Given the description of an element on the screen output the (x, y) to click on. 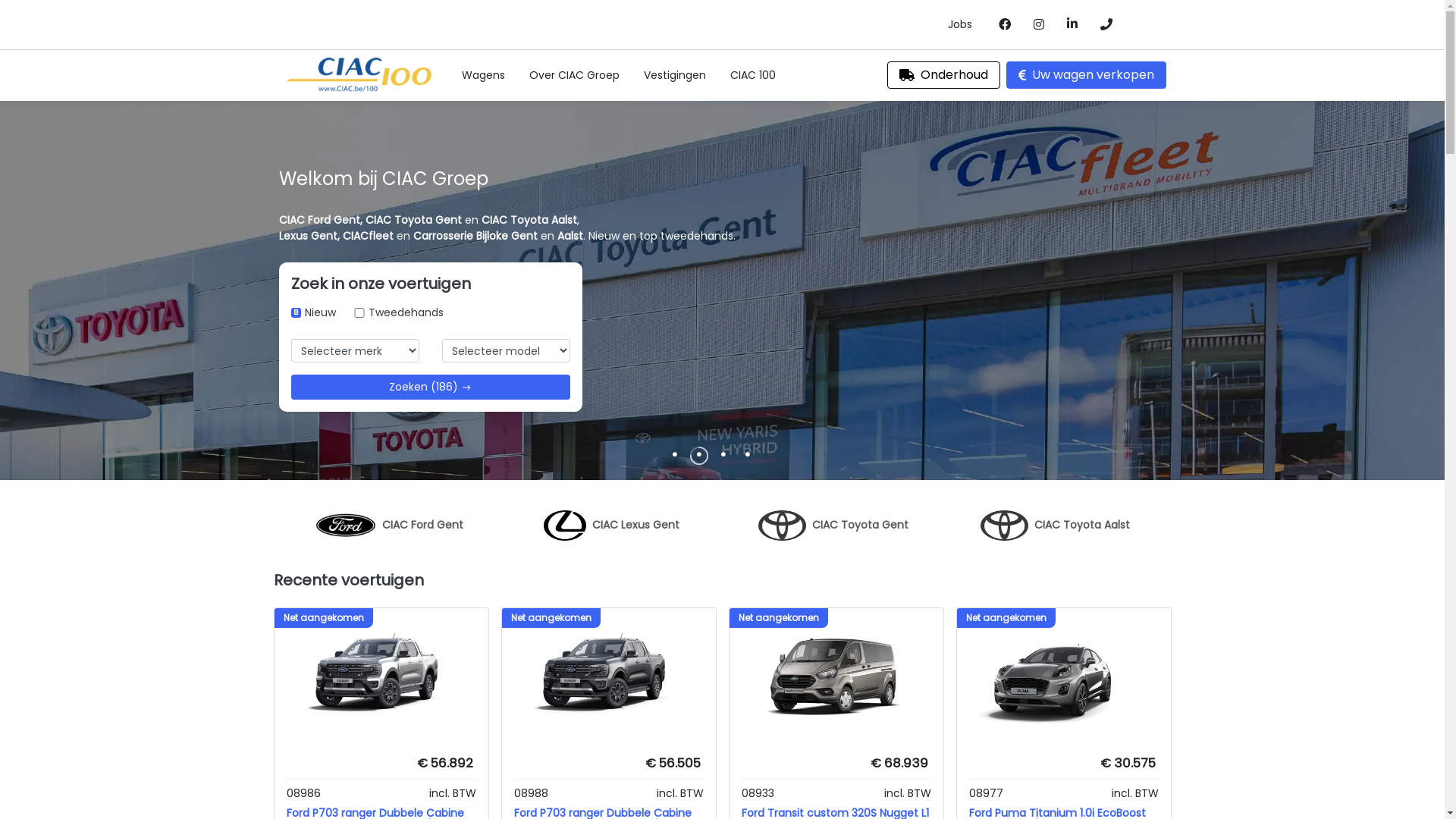
Onderhoud Element type: text (943, 74)
Over CIAC Groep Element type: text (574, 75)
Jobs Element type: text (959, 23)
CIAC 100 Element type: text (752, 75)
Zoeken (186) Element type: text (430, 386)
Wagens Element type: text (483, 75)
CIAC Toyota Gent Element type: text (832, 516)
Onderhoud Element type: text (946, 74)
CIAC Lexus Gent Element type: text (611, 516)
CIAC Ford Gent Element type: text (390, 515)
CIAC Toyota Aalst Element type: text (1055, 516)
Uw wagen verkopen Element type: text (1085, 74)
Vestigingen Element type: text (674, 75)
